Given the description of an element on the screen output the (x, y) to click on. 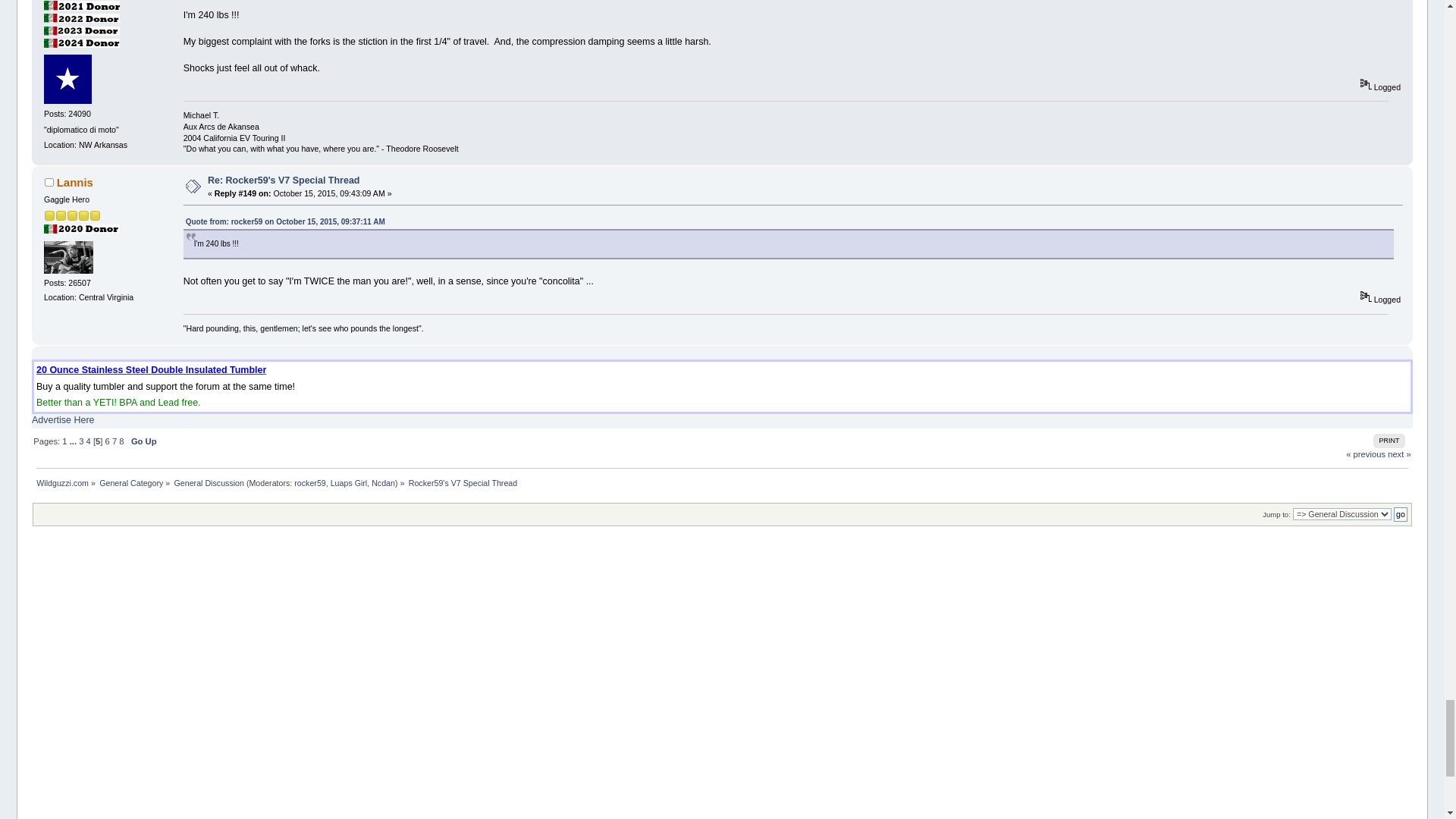
go (1400, 513)
